Given the description of an element on the screen output the (x, y) to click on. 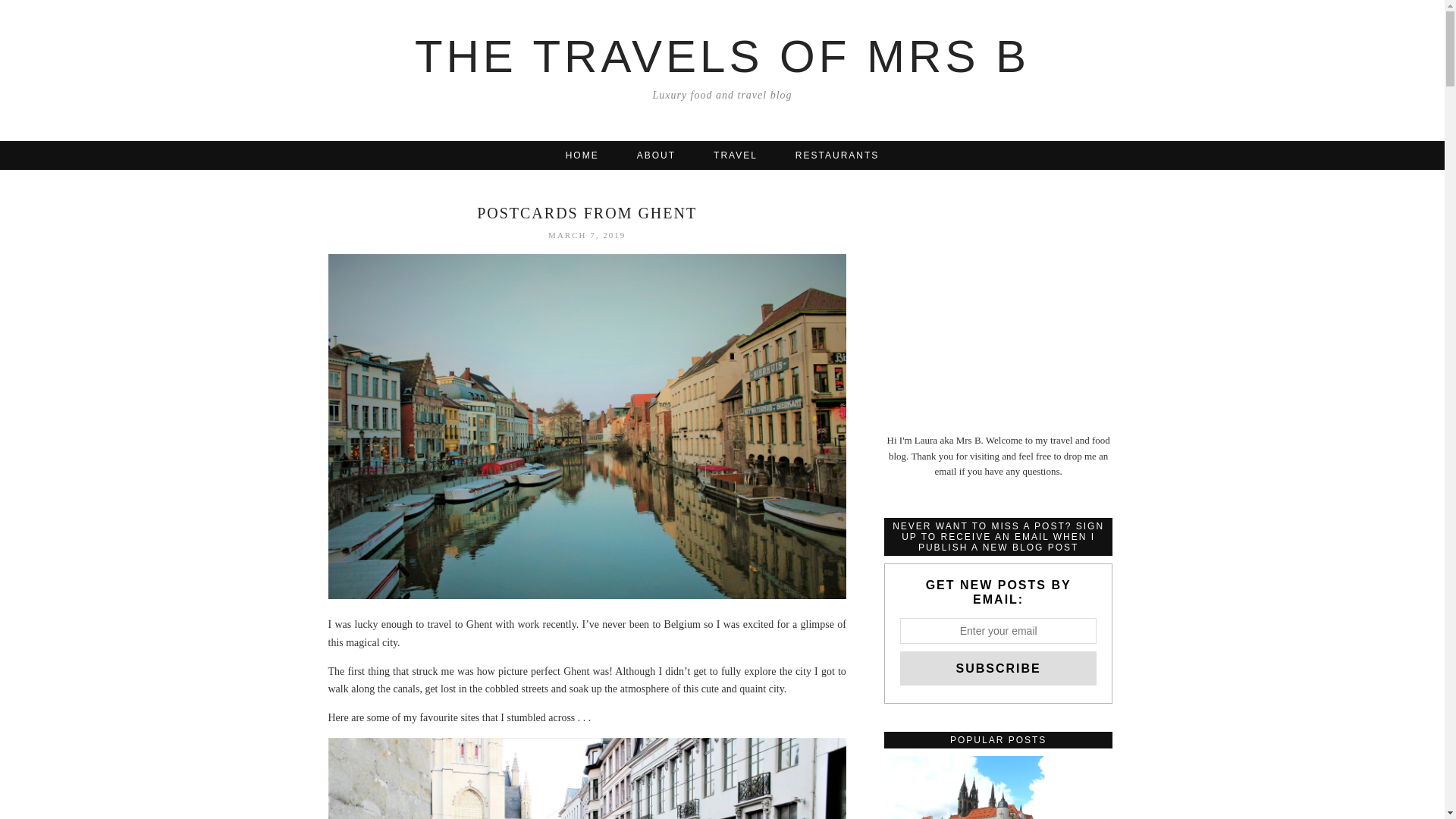
TRAVEL (735, 154)
HOME (582, 154)
The Travels of Mrs B (721, 56)
THE TRAVELS OF MRS B (721, 56)
Subscribe (998, 668)
ABOUT (655, 154)
